Given the description of an element on the screen output the (x, y) to click on. 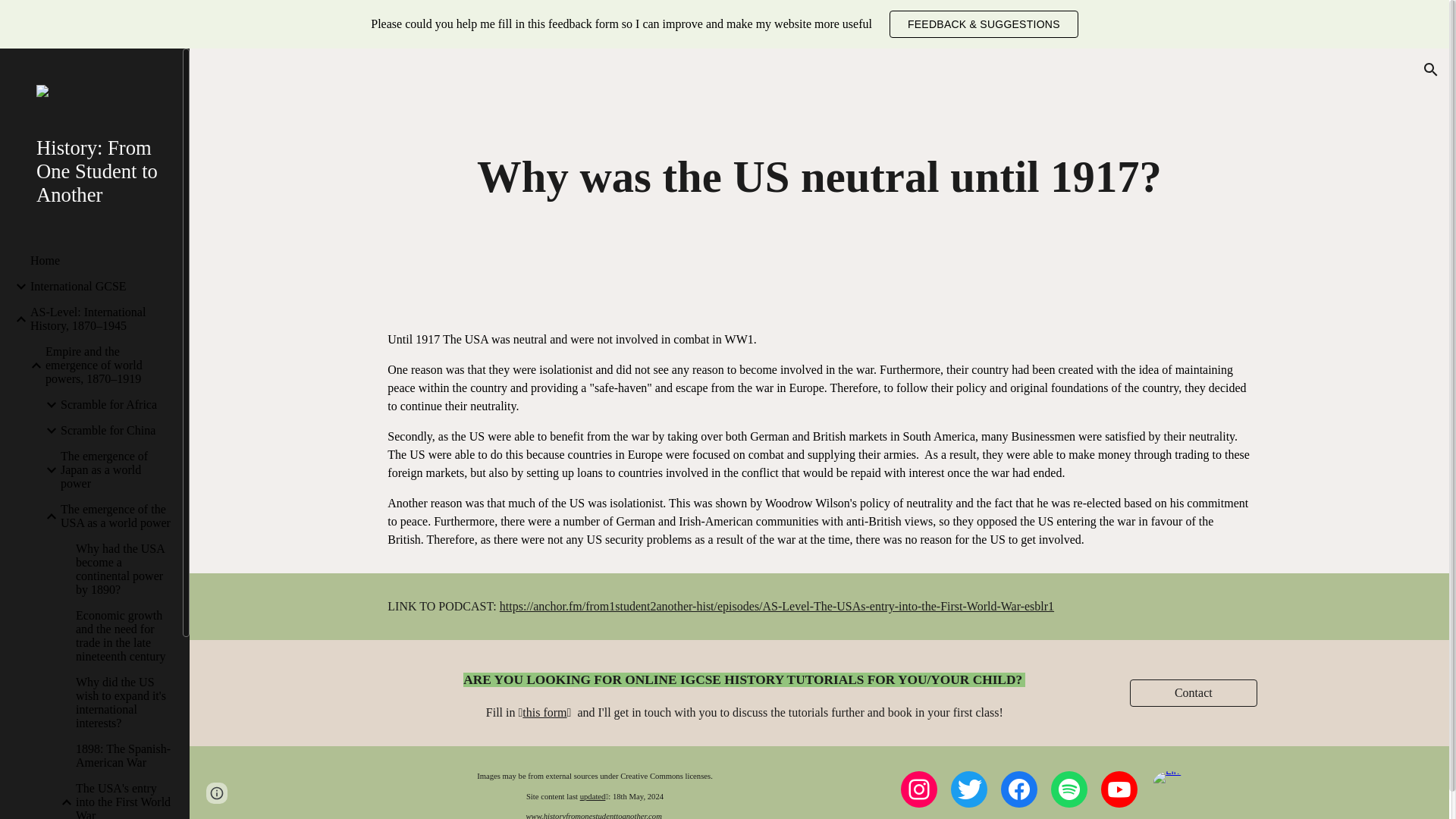
History: From One Student to Another (97, 171)
International GCSE (100, 286)
Home (100, 260)
